Given the description of an element on the screen output the (x, y) to click on. 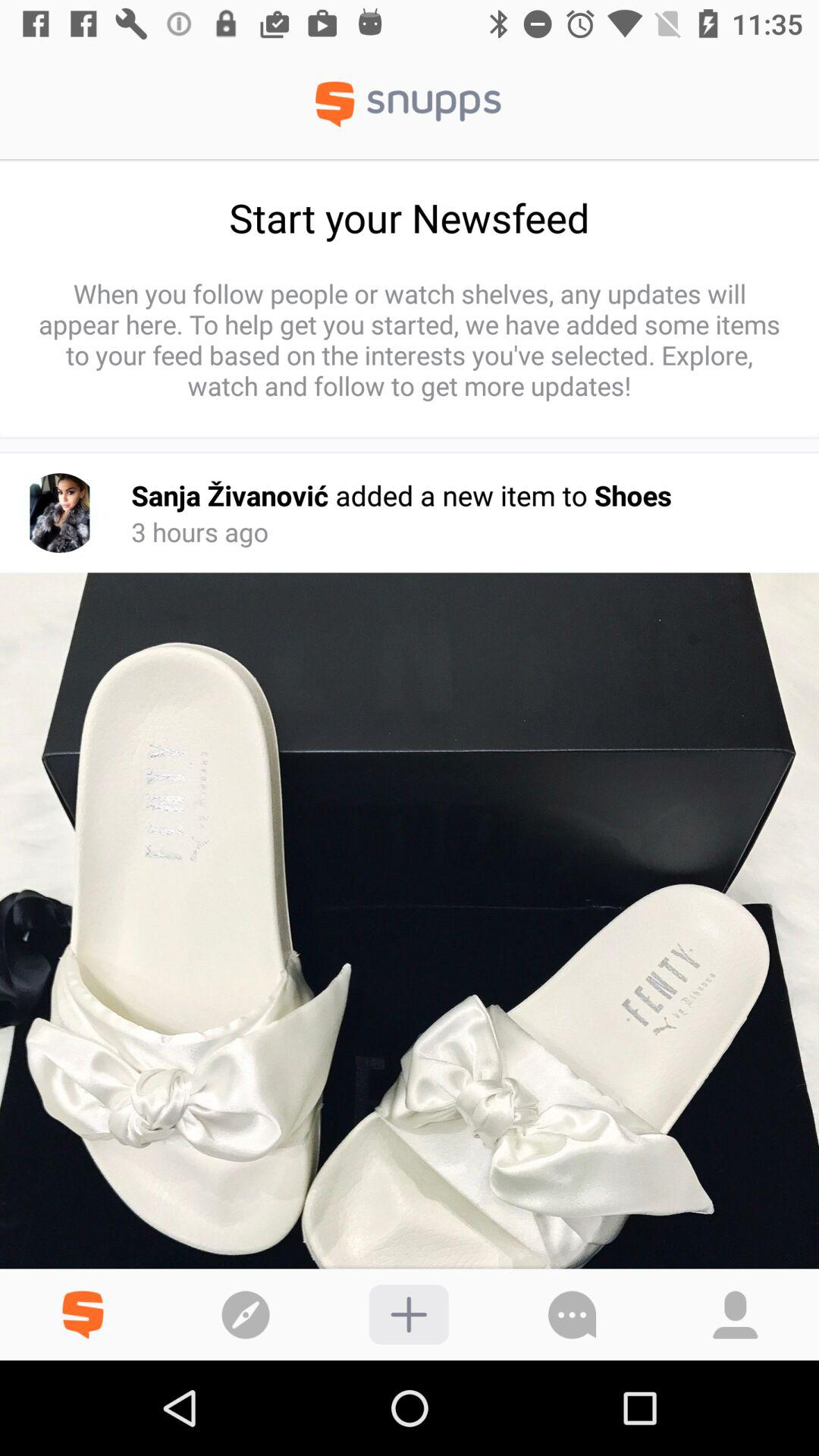
add new item (408, 1314)
